Given the description of an element on the screen output the (x, y) to click on. 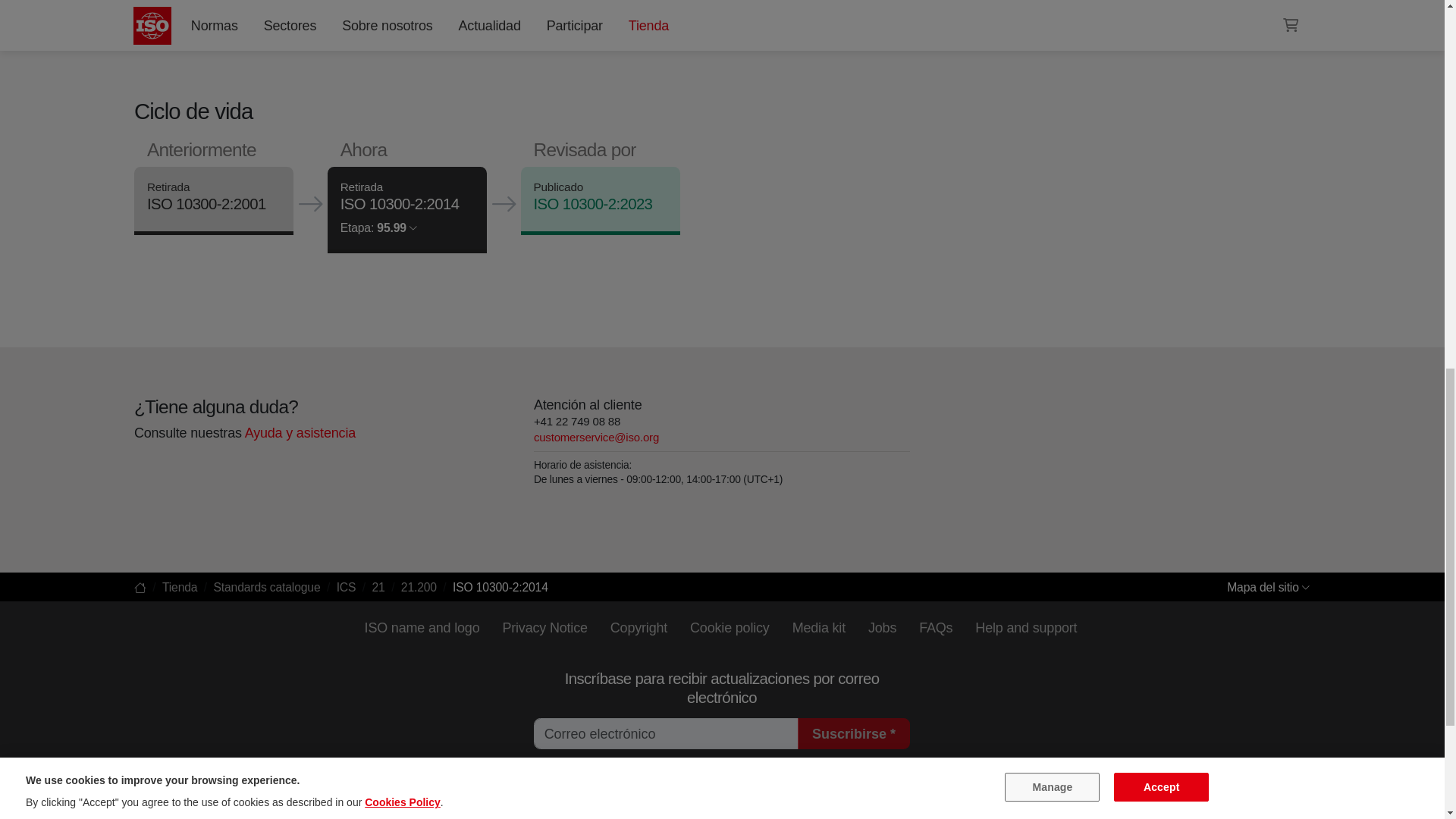
ISO 10300-2:2001 (205, 204)
Etapa: 95.99 (377, 227)
